Given the description of an element on the screen output the (x, y) to click on. 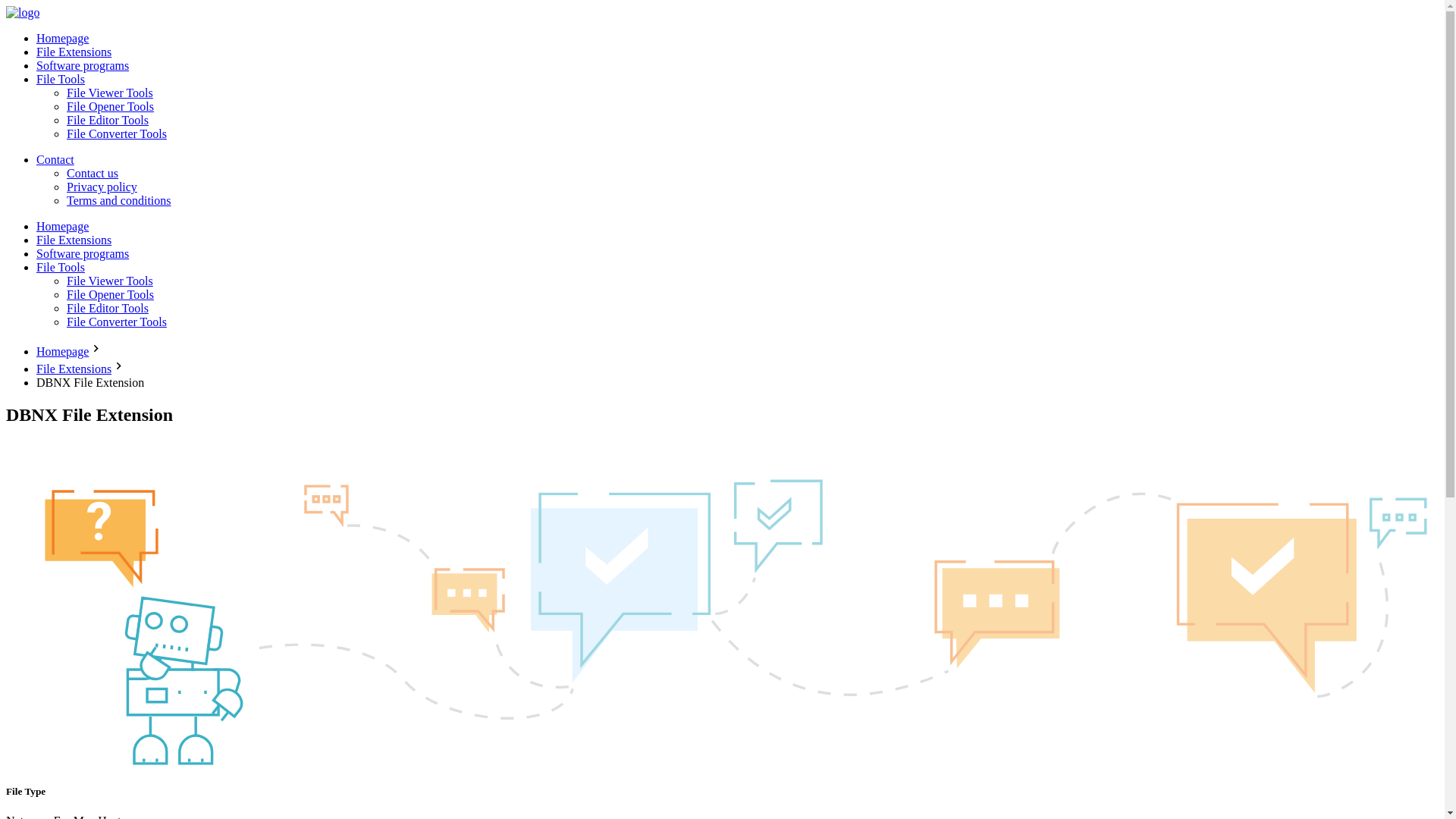
File Editor Tools (107, 119)
Homepage (62, 350)
Homepage (62, 226)
File Viewer Tools (109, 92)
Homepage (62, 38)
File Extensions (74, 51)
File Tools (60, 78)
Contact us (91, 173)
File Opener Tools (110, 106)
File Extensions (74, 239)
File Editor Tools (107, 308)
Software programs (82, 65)
Terms and conditions (118, 200)
File Converter Tools (116, 133)
Contact (55, 159)
